Given the description of an element on the screen output the (x, y) to click on. 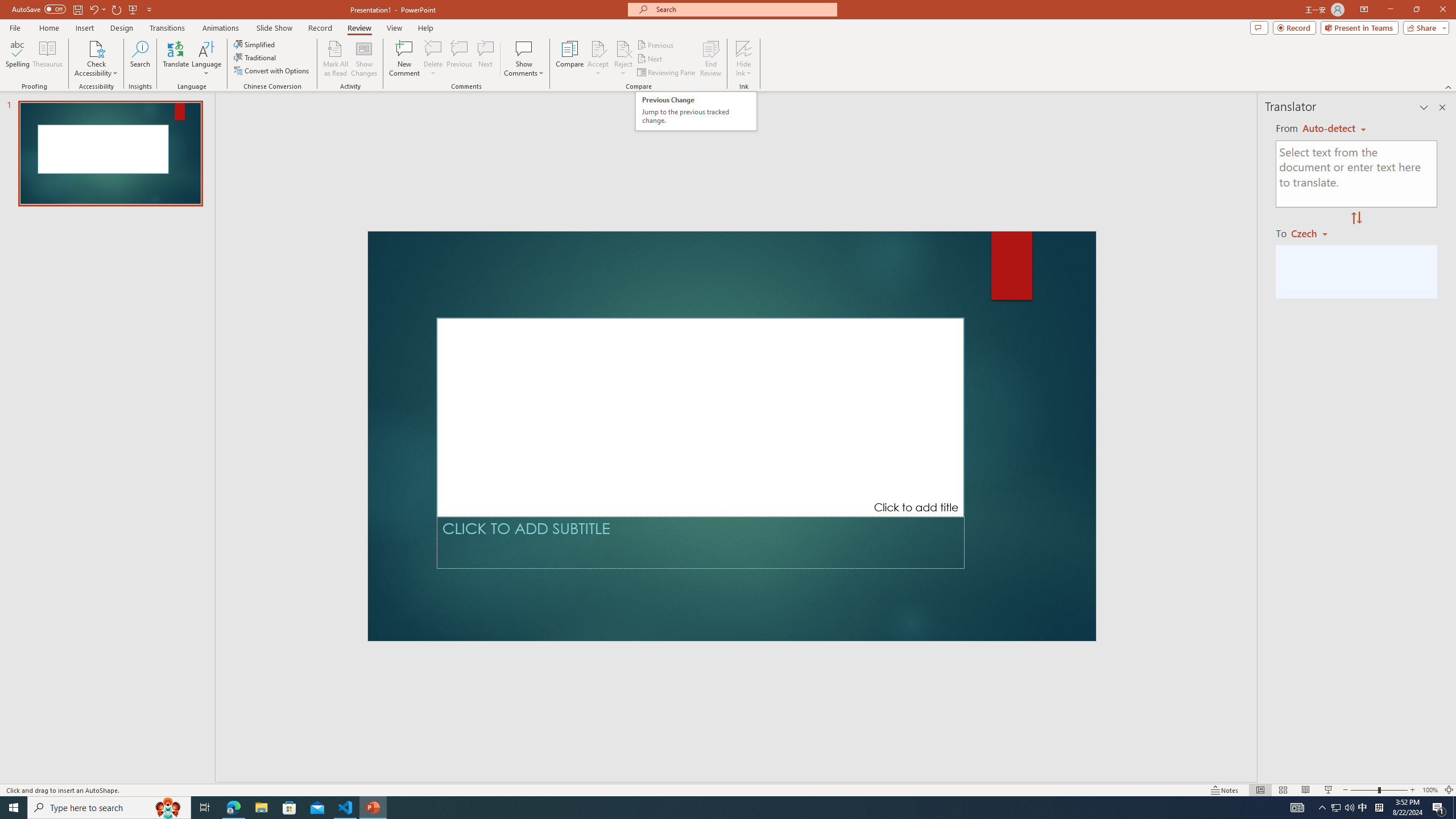
Show Changes (363, 58)
Auto-detect (1334, 128)
Convert with Options... (272, 69)
Accept Change (598, 48)
